Given the description of an element on the screen output the (x, y) to click on. 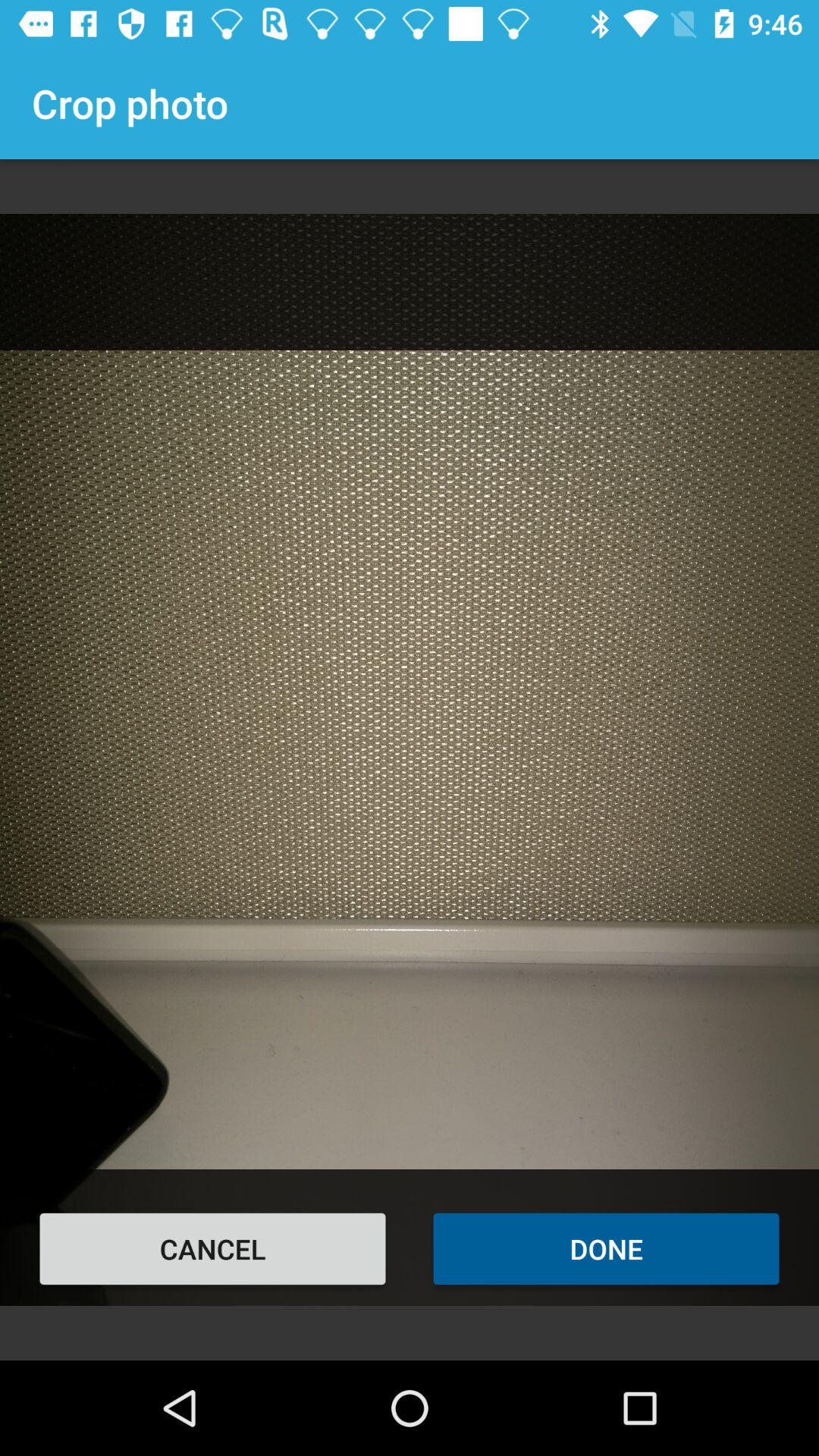
launch item to the right of cancel item (606, 1248)
